Given the description of an element on the screen output the (x, y) to click on. 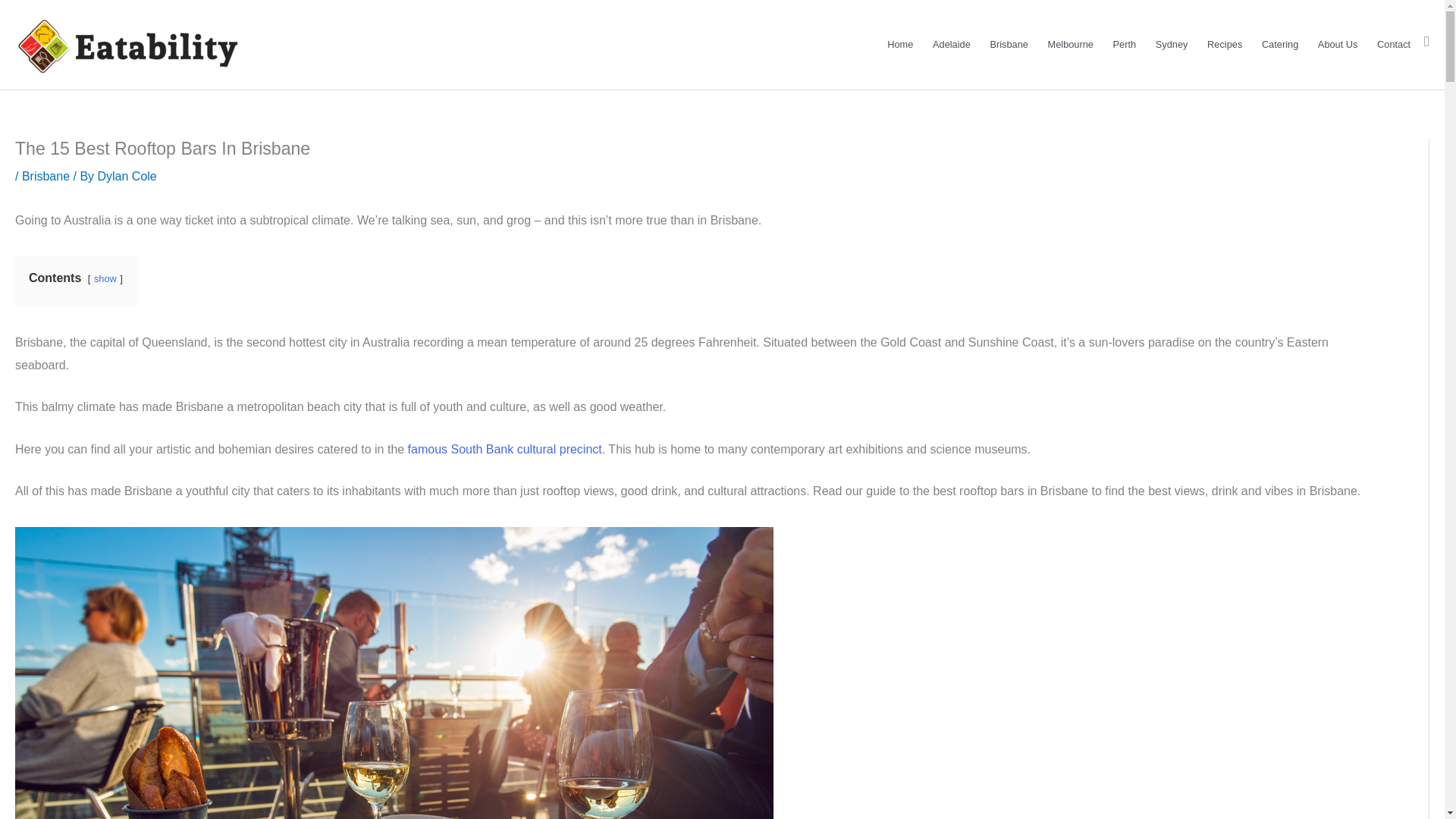
Brisbane (45, 175)
famous South Bank cultural precinct (503, 449)
Dylan Cole (126, 175)
View all posts by Dylan Cole (126, 175)
show (105, 278)
